Given the description of an element on the screen output the (x, y) to click on. 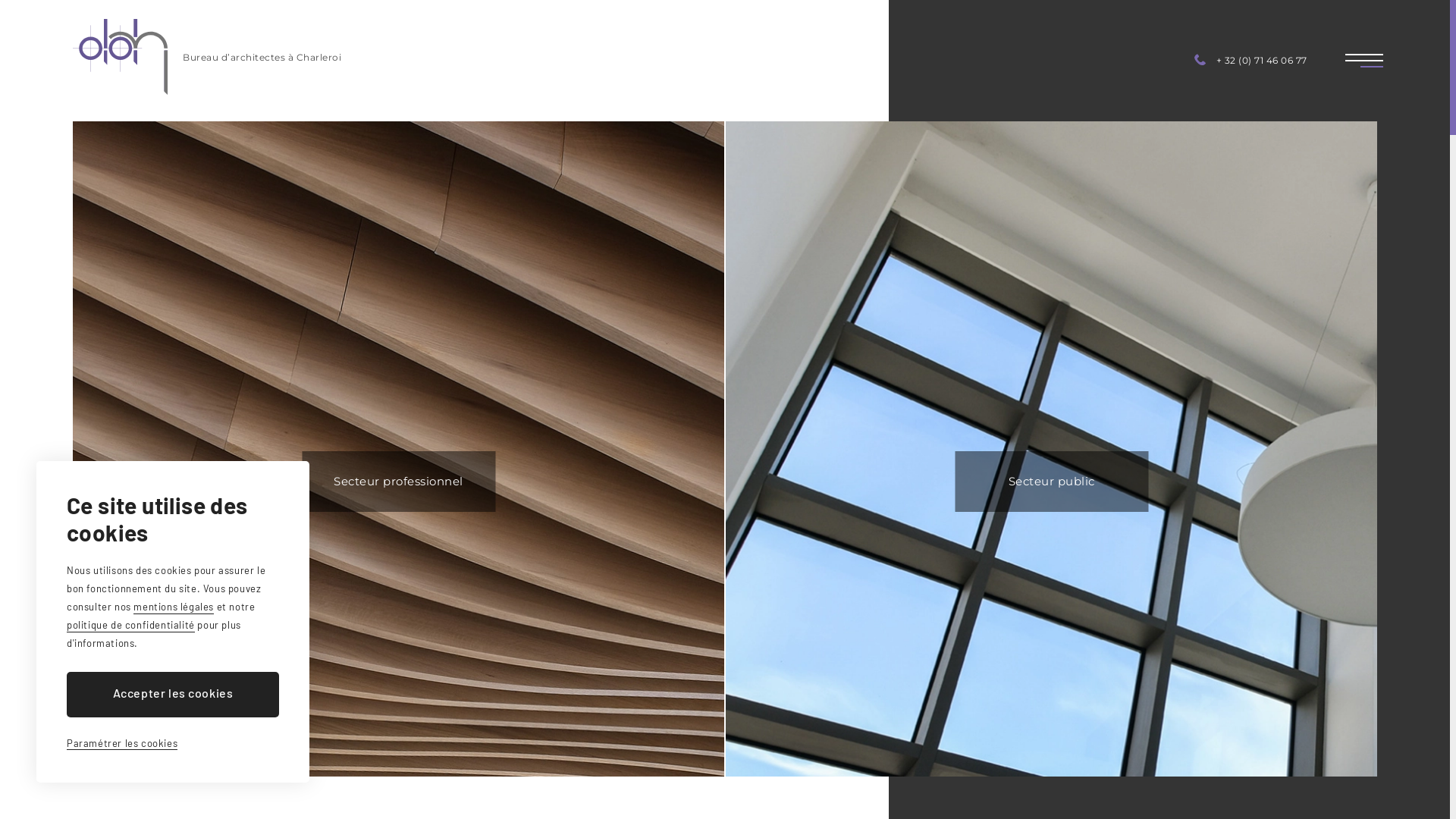
Secteur public Element type: text (1051, 481)
Secteur professionnel Element type: text (398, 481)
+ 32 (0) 71 46 06 77 Element type: text (1250, 60)
